Given the description of an element on the screen output the (x, y) to click on. 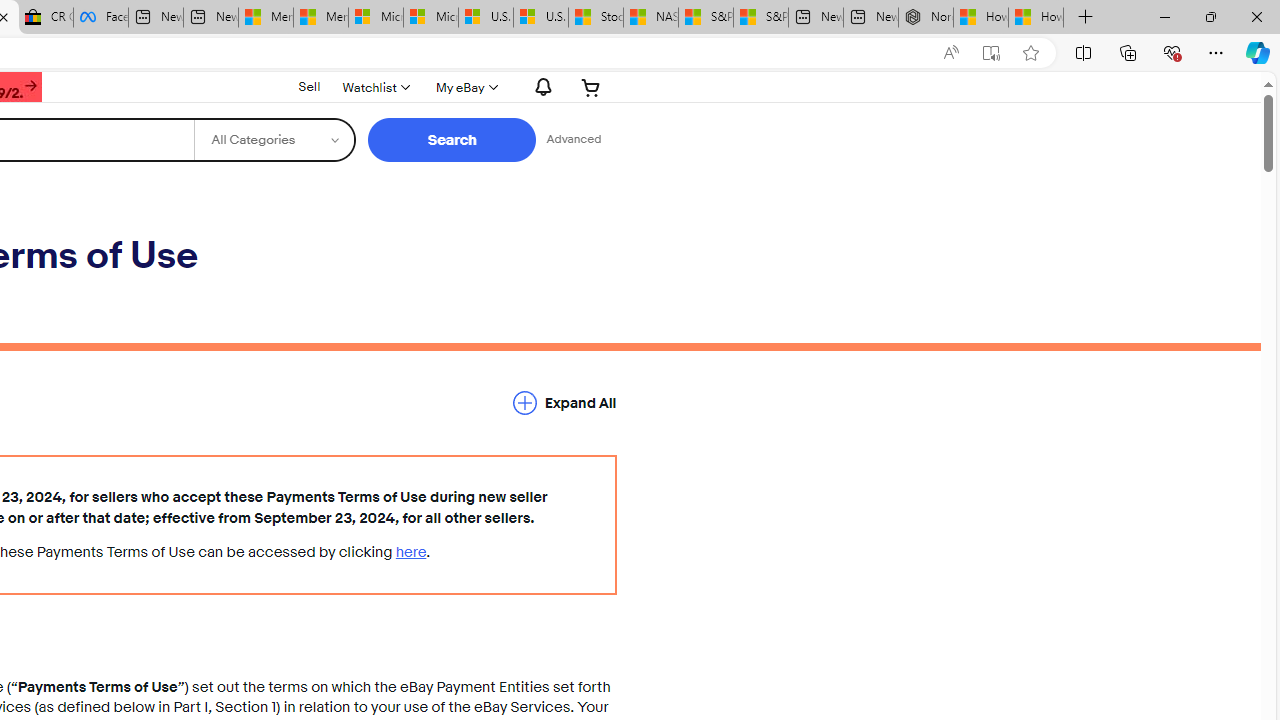
Watchlist (374, 87)
